Given the description of an element on the screen output the (x, y) to click on. 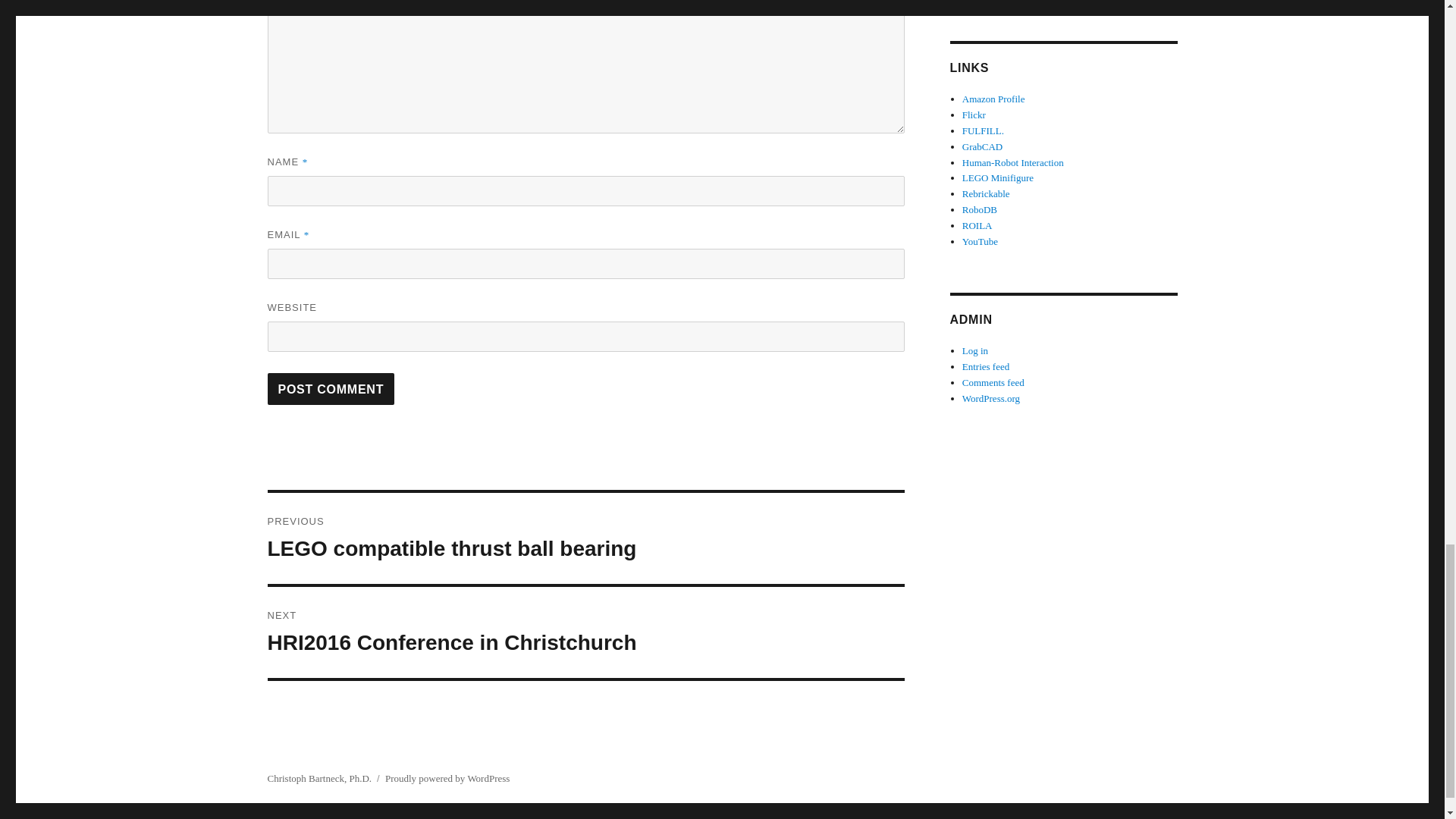
My GrabCAD Profile (982, 146)
Post Comment (330, 388)
My YouTube Channel (979, 241)
My Flickr Stream (973, 114)
The Robot Interaction Language (977, 225)
My Rebrickable Profile (986, 193)
Post Comment (585, 538)
A database of robots (330, 388)
My Amazon Author Profile (979, 209)
The Unofficial LEGO Minifigure Catalog (993, 98)
The home of the HRI book and the podcast.  (997, 177)
Complete the illustrations and unwind your mind. (585, 632)
